Given the description of an element on the screen output the (x, y) to click on. 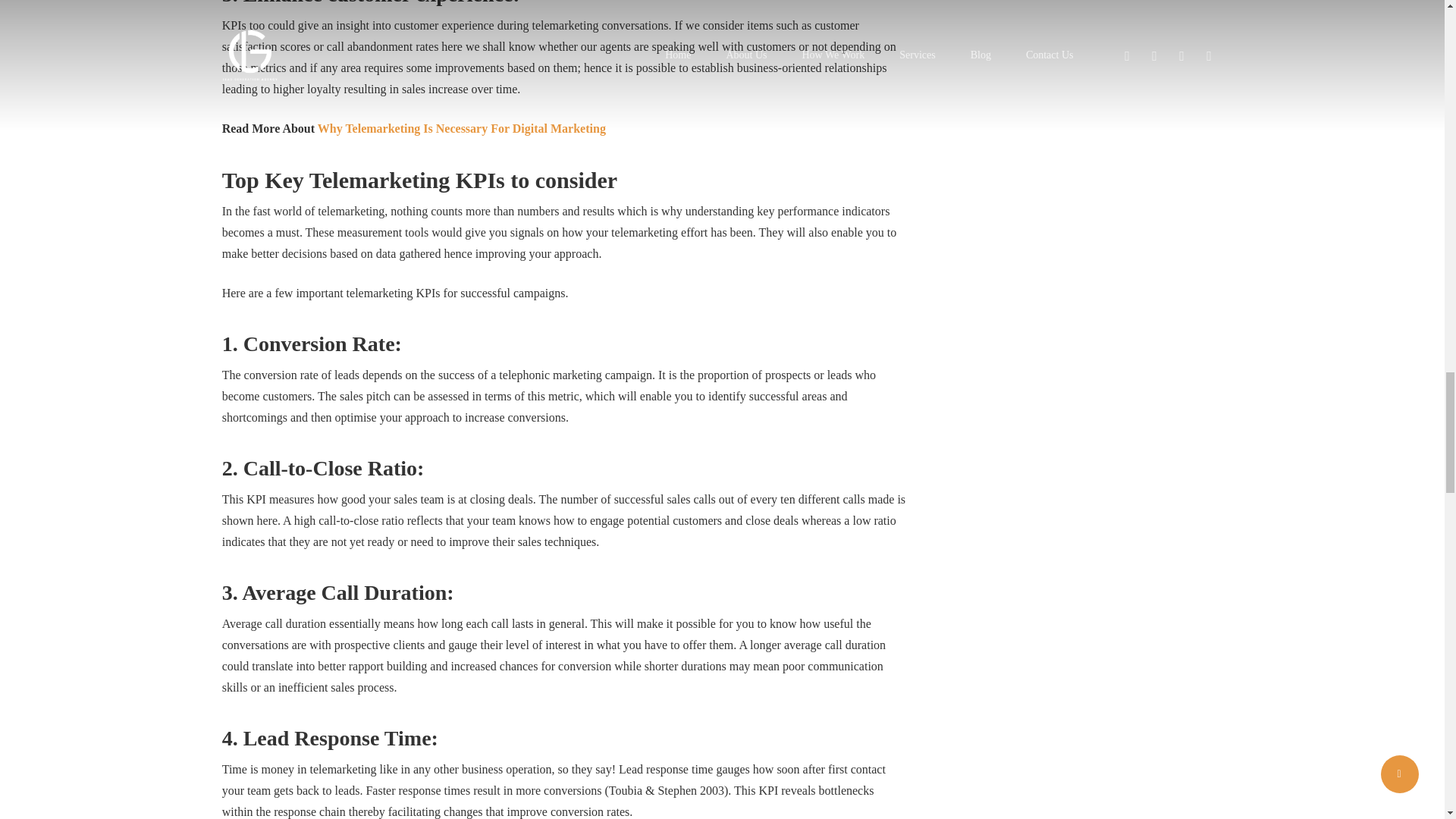
Why Telemarketing Is Necessary For Digital Marketing (461, 128)
